Given the description of an element on the screen output the (x, y) to click on. 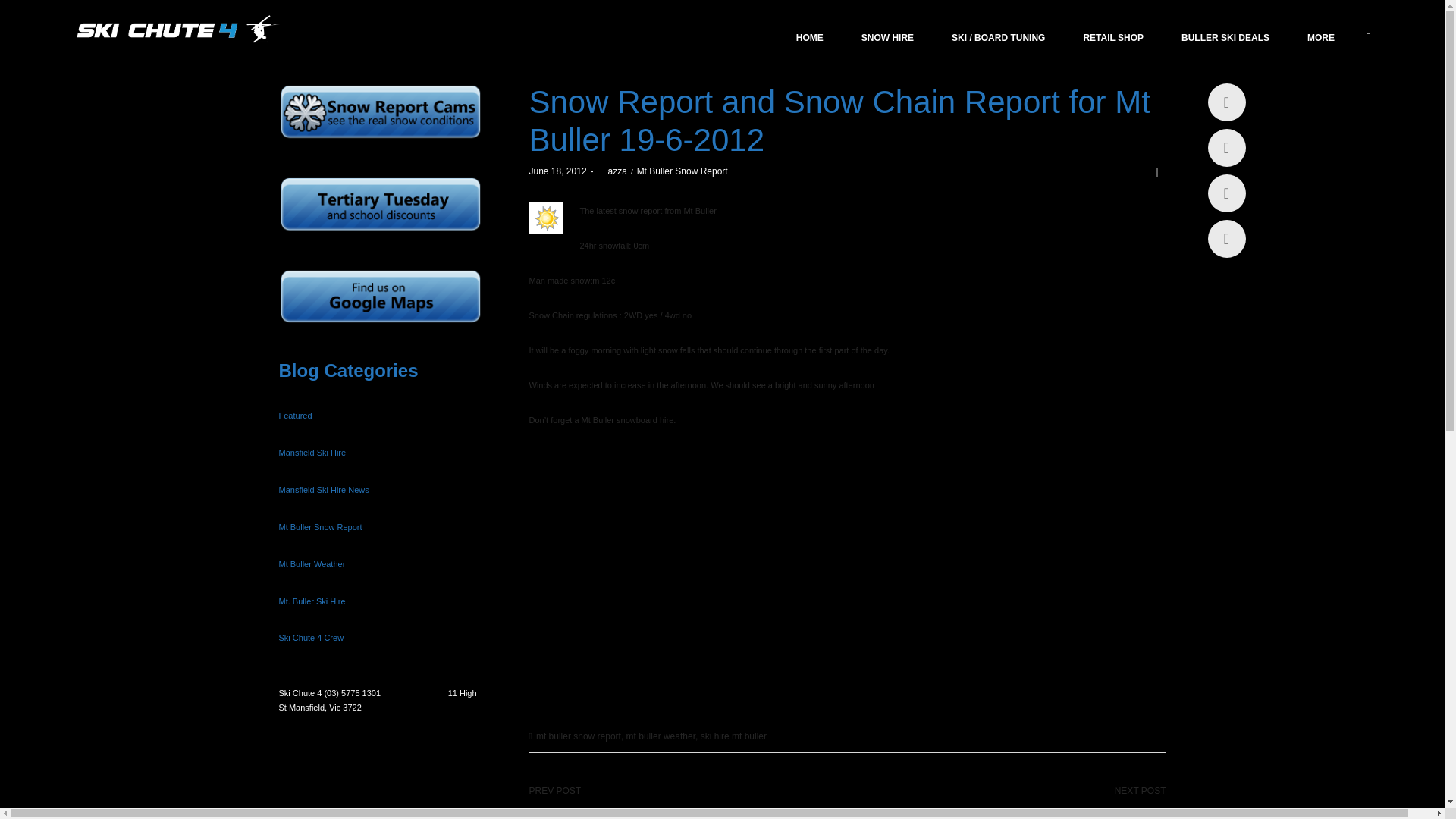
BULLER SKI DEALS (1225, 37)
SNOW HIRE (887, 37)
HOME (809, 37)
Ski Chute Four, Mansfield Ski Hire for Mt Buller (174, 30)
MORE (1320, 37)
RETAIL SHOP (1112, 37)
Sunny Mt Buller Snow Report (546, 217)
